Given the description of an element on the screen output the (x, y) to click on. 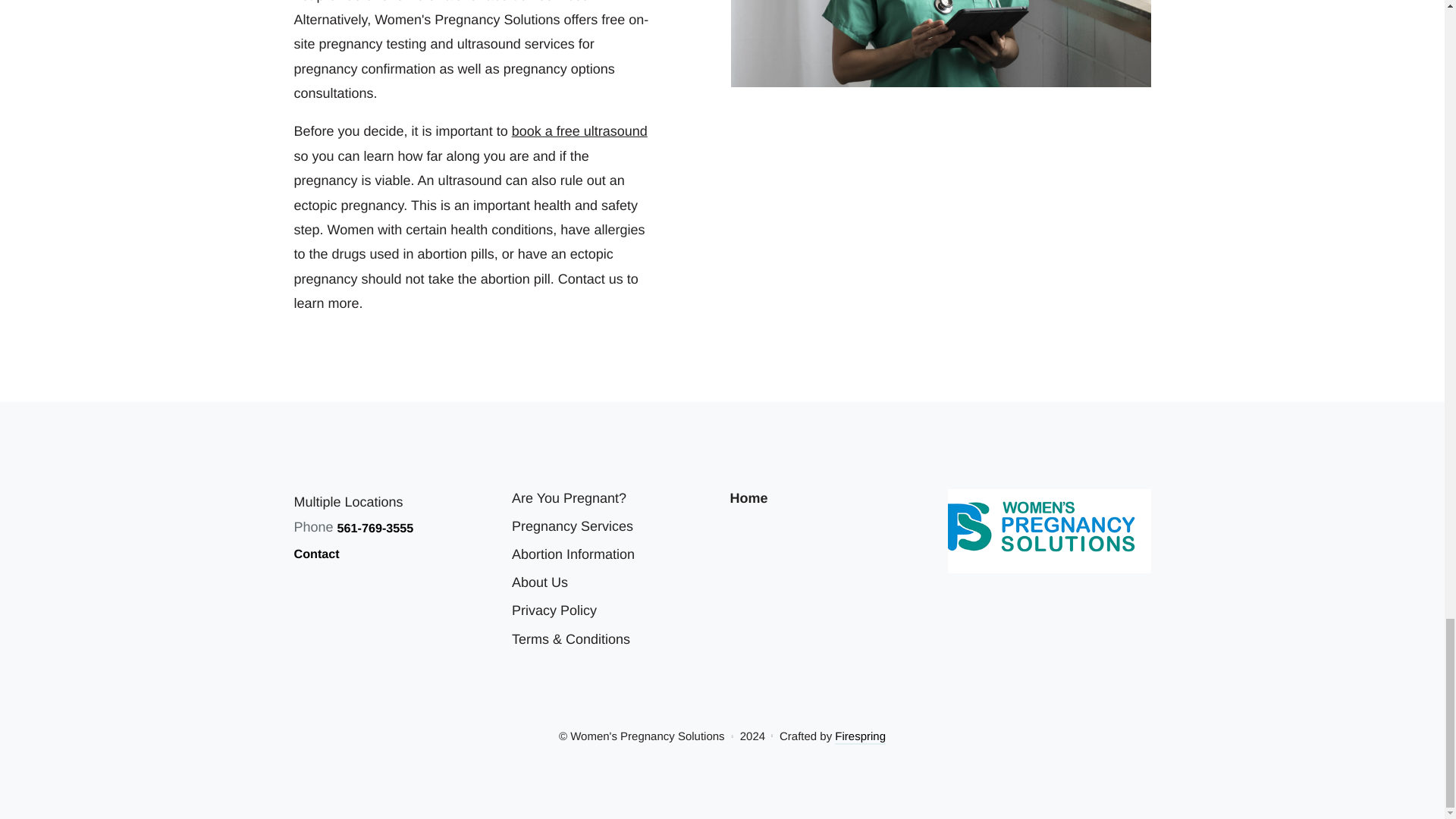
logo (1049, 530)
